Given the description of an element on the screen output the (x, y) to click on. 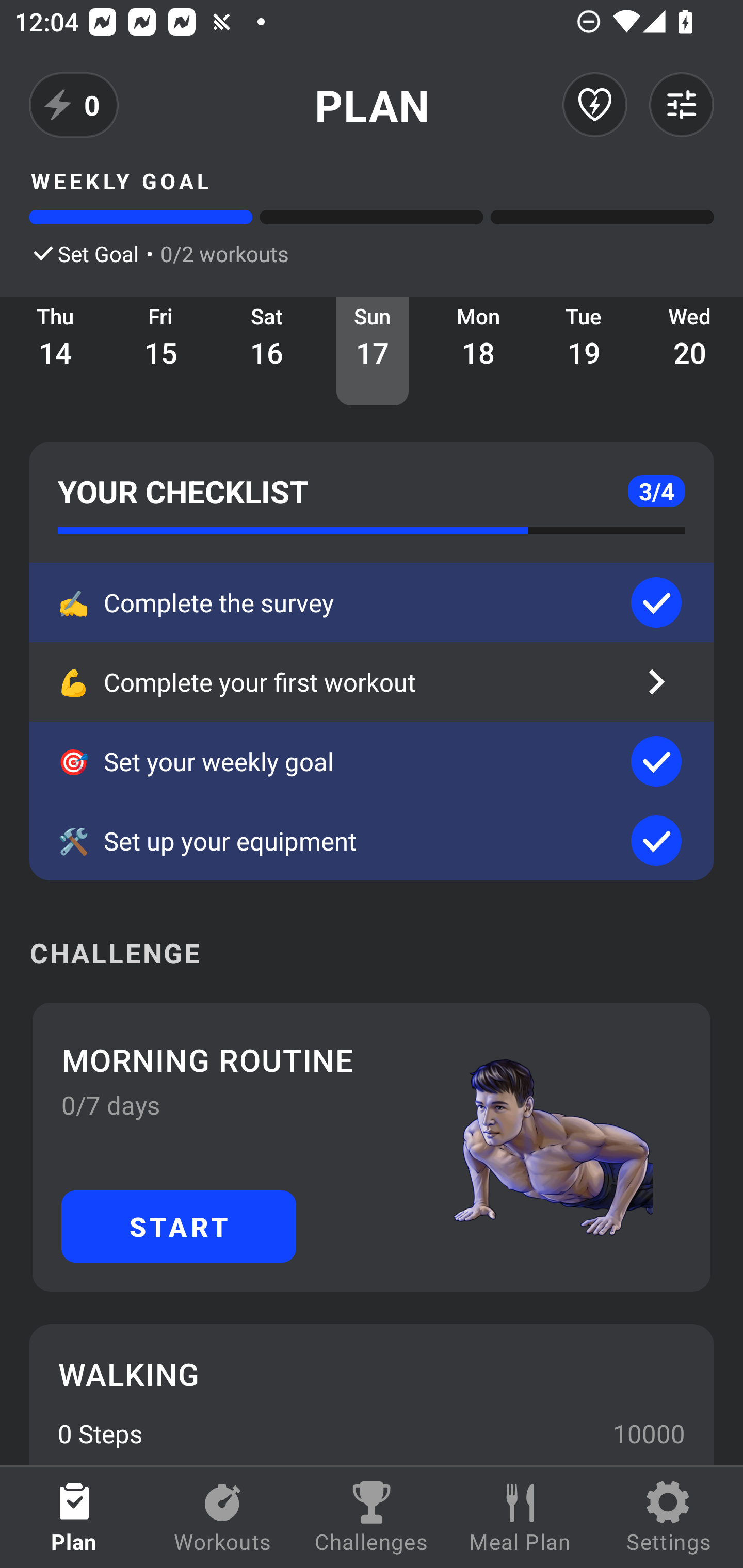
0 (73, 104)
Thu 14 (55, 351)
Fri 15 (160, 351)
Sat 16 (266, 351)
Sun 17 (372, 351)
Mon 18 (478, 351)
Tue 19 (584, 351)
Wed 20 (690, 351)
💪 Complete your first workout (371, 681)
MORNING ROUTINE 0/7 days START (371, 1146)
START (178, 1226)
WALKING 0 Steps 10000 (371, 1393)
 Workouts  (222, 1517)
 Challenges  (371, 1517)
 Meal Plan  (519, 1517)
 Settings  (668, 1517)
